Given the description of an element on the screen output the (x, y) to click on. 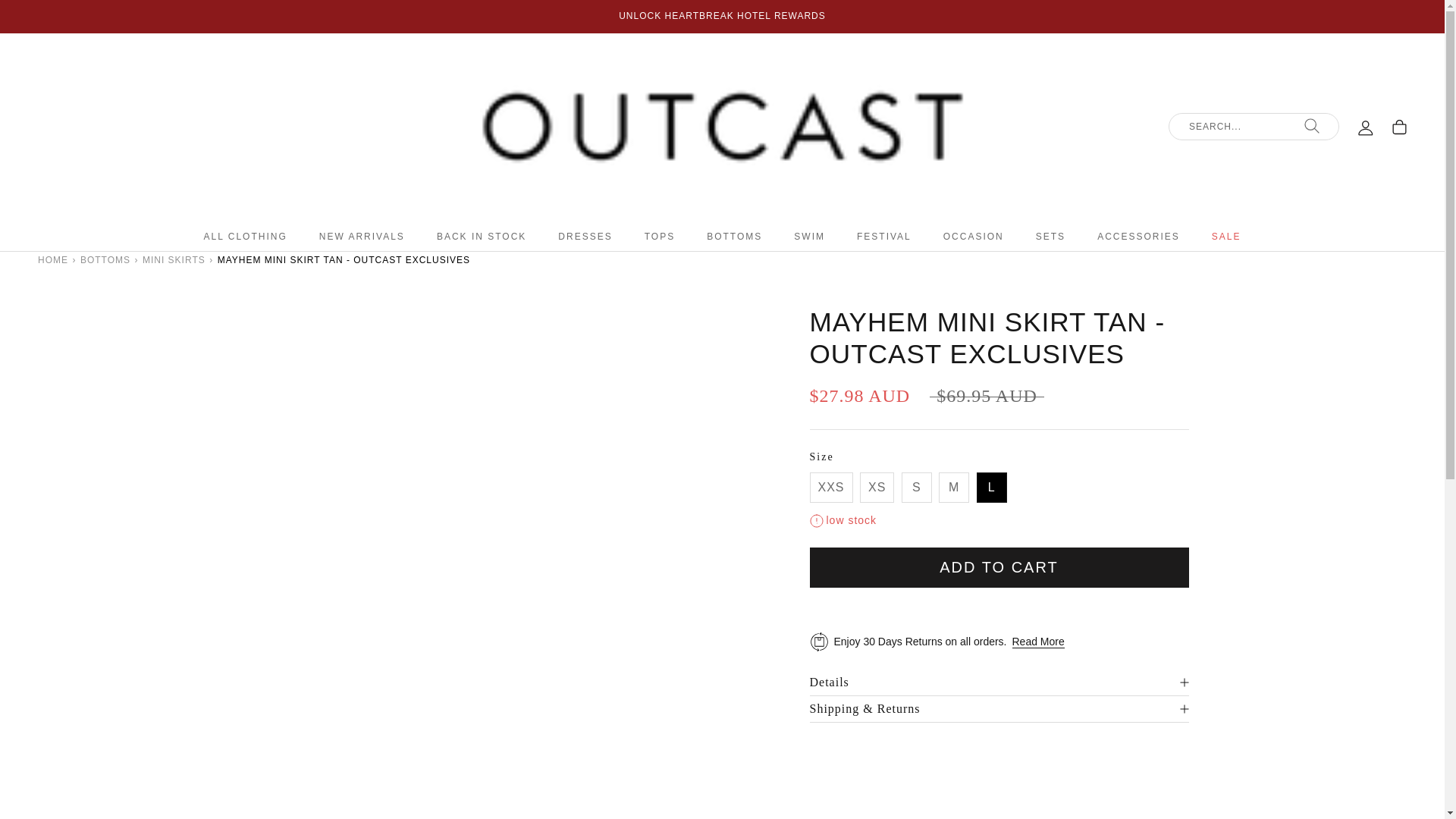
Mini Skirts (173, 259)
Home (52, 259)
BOTTOMS (105, 259)
